Given the description of an element on the screen output the (x, y) to click on. 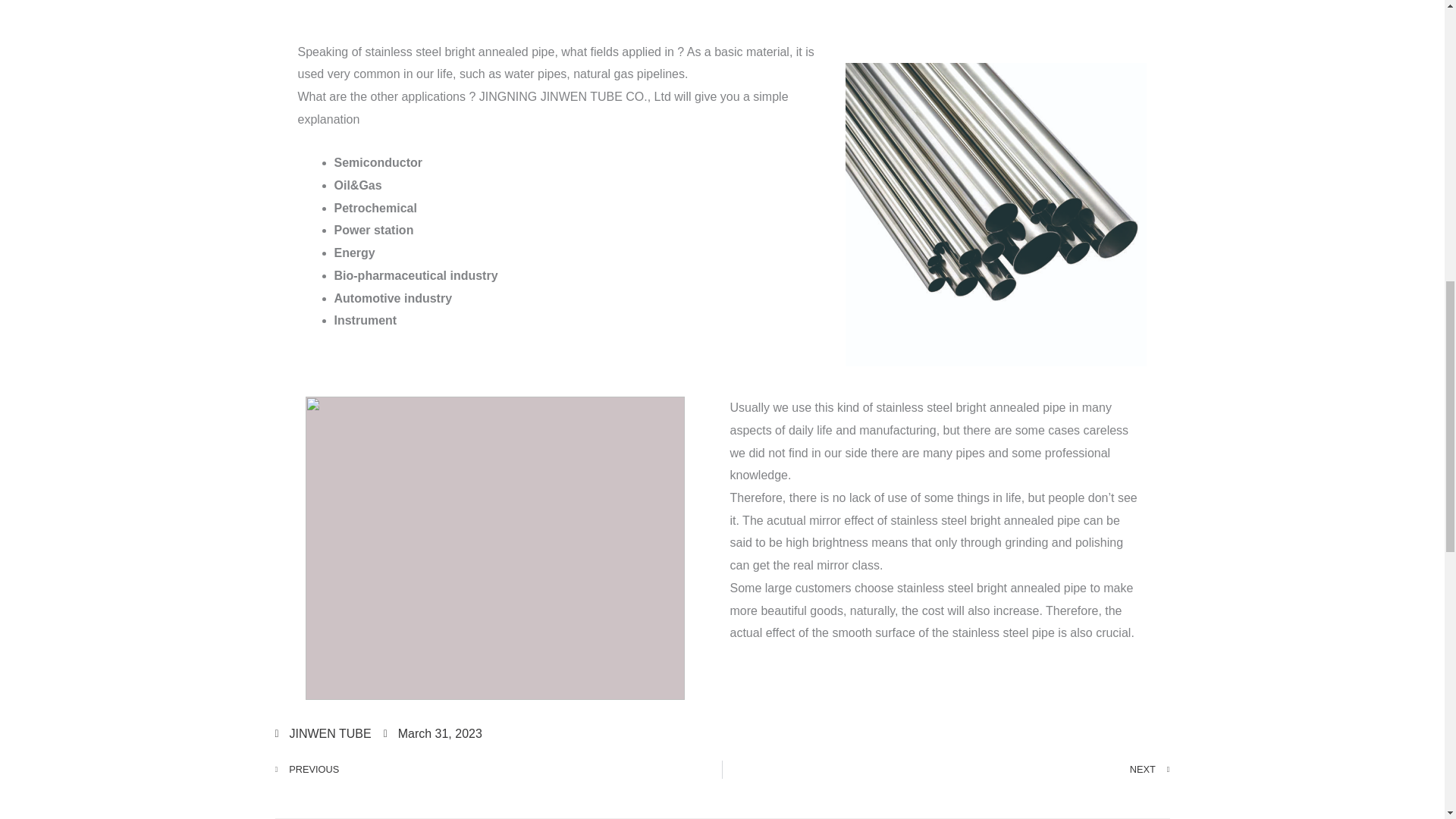
NEXT (946, 769)
PREVIOUS (498, 769)
